Given the description of an element on the screen output the (x, y) to click on. 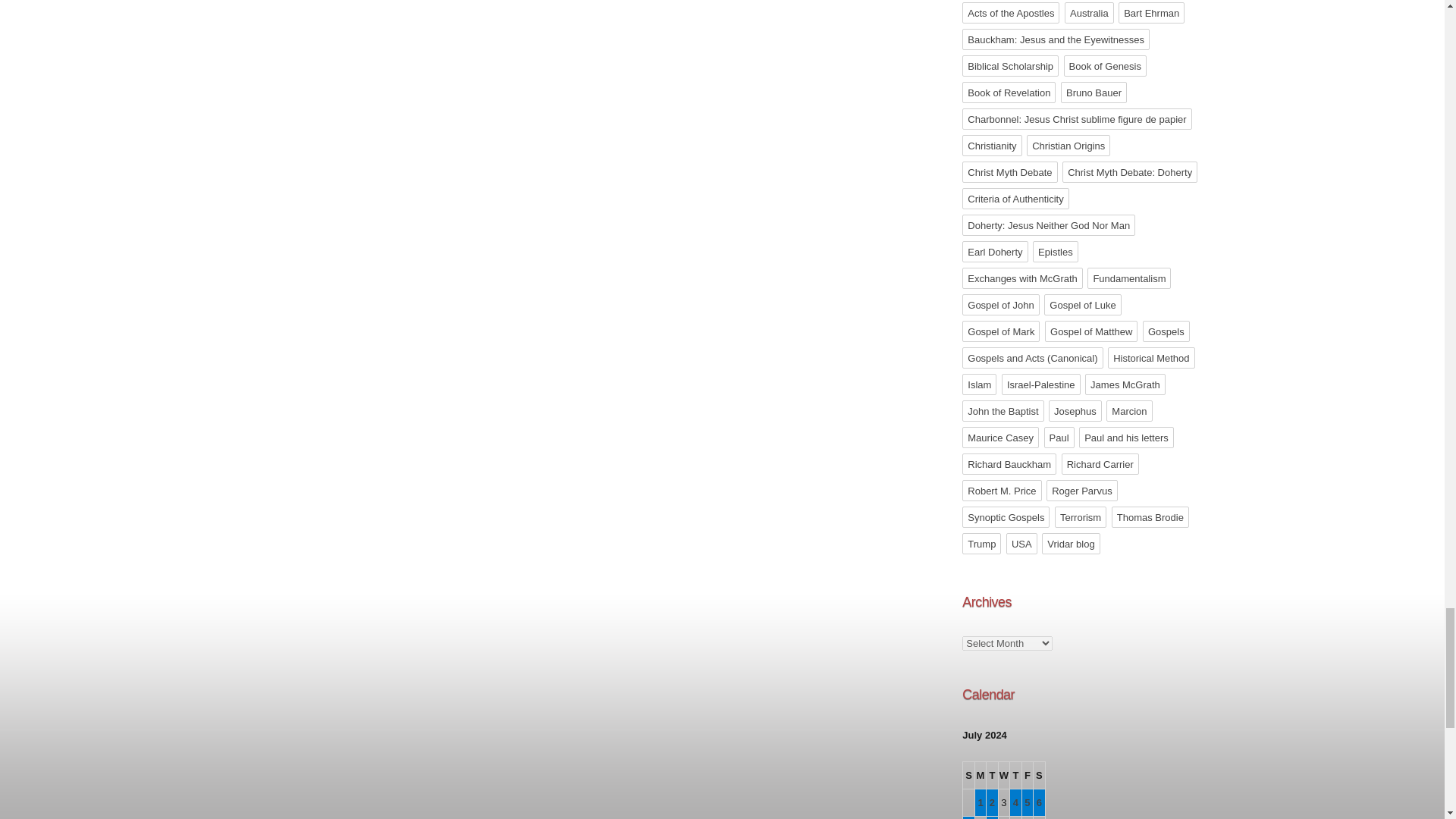
Tuesday (992, 775)
Thursday (1016, 775)
Sunday (968, 775)
Friday (1027, 775)
Monday (981, 775)
Wednesday (1004, 775)
Saturday (1039, 775)
